Given the description of an element on the screen output the (x, y) to click on. 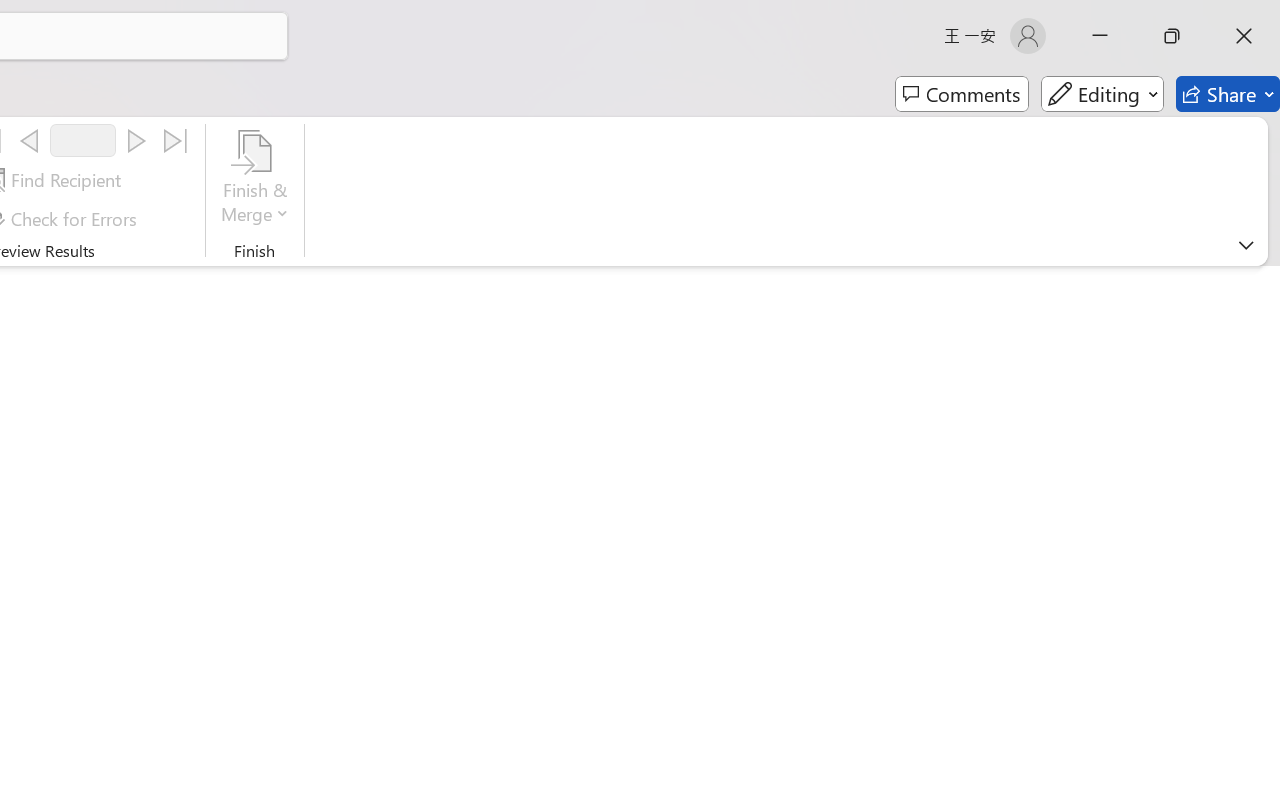
Editing (1101, 94)
Next (136, 141)
Last (175, 141)
Comments (961, 94)
Share (1228, 94)
Record (83, 140)
Restore Down (1172, 36)
Minimize (1099, 36)
Previous (29, 141)
Close (1244, 36)
Finish & Merge (255, 179)
Ribbon Display Options (1246, 245)
